Given the description of an element on the screen output the (x, y) to click on. 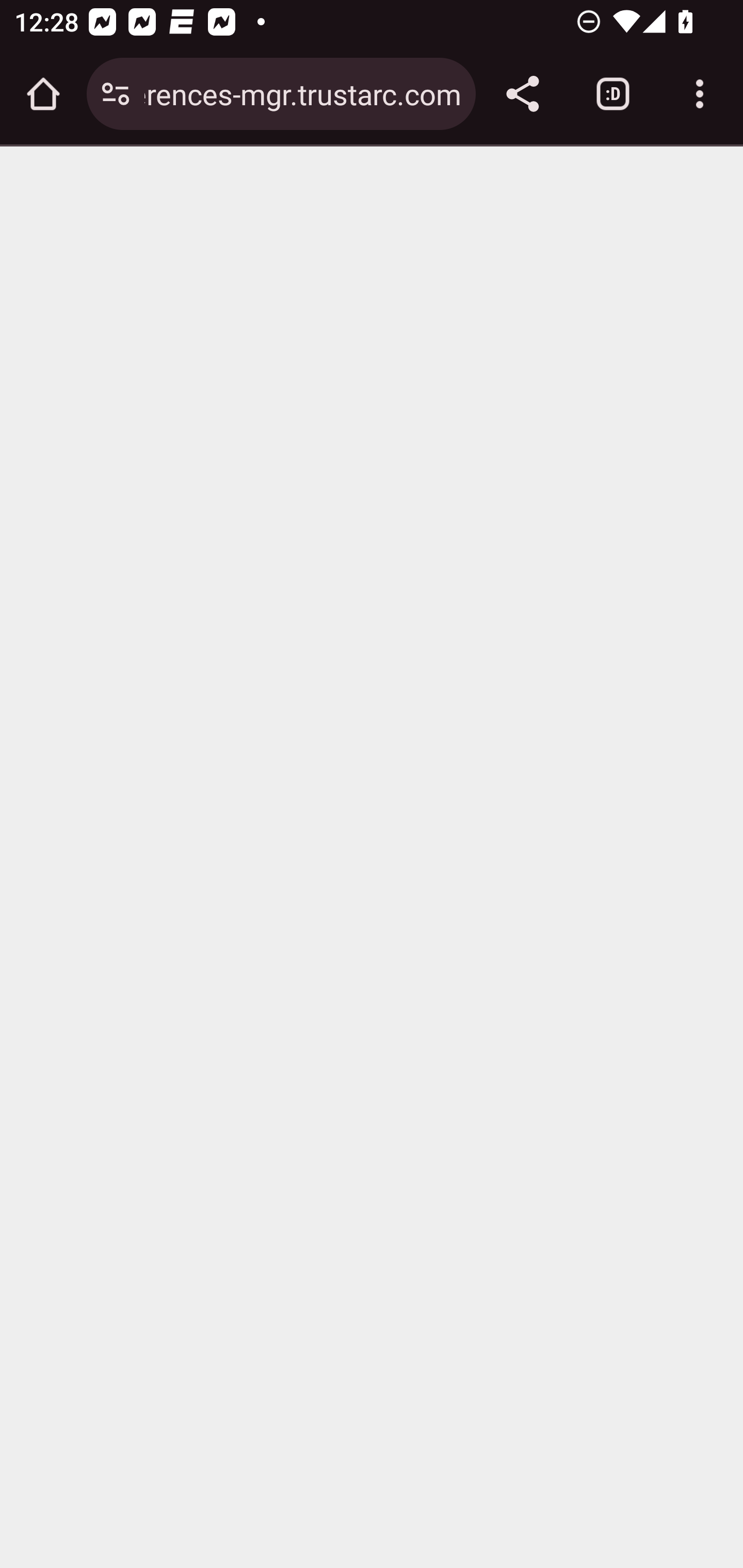
Open the home page (43, 93)
Connection is secure (115, 93)
Share (522, 93)
Switch or close tabs (612, 93)
Customize and control Google Chrome (699, 93)
 Select All  (484, 1159)
